Given the description of an element on the screen output the (x, y) to click on. 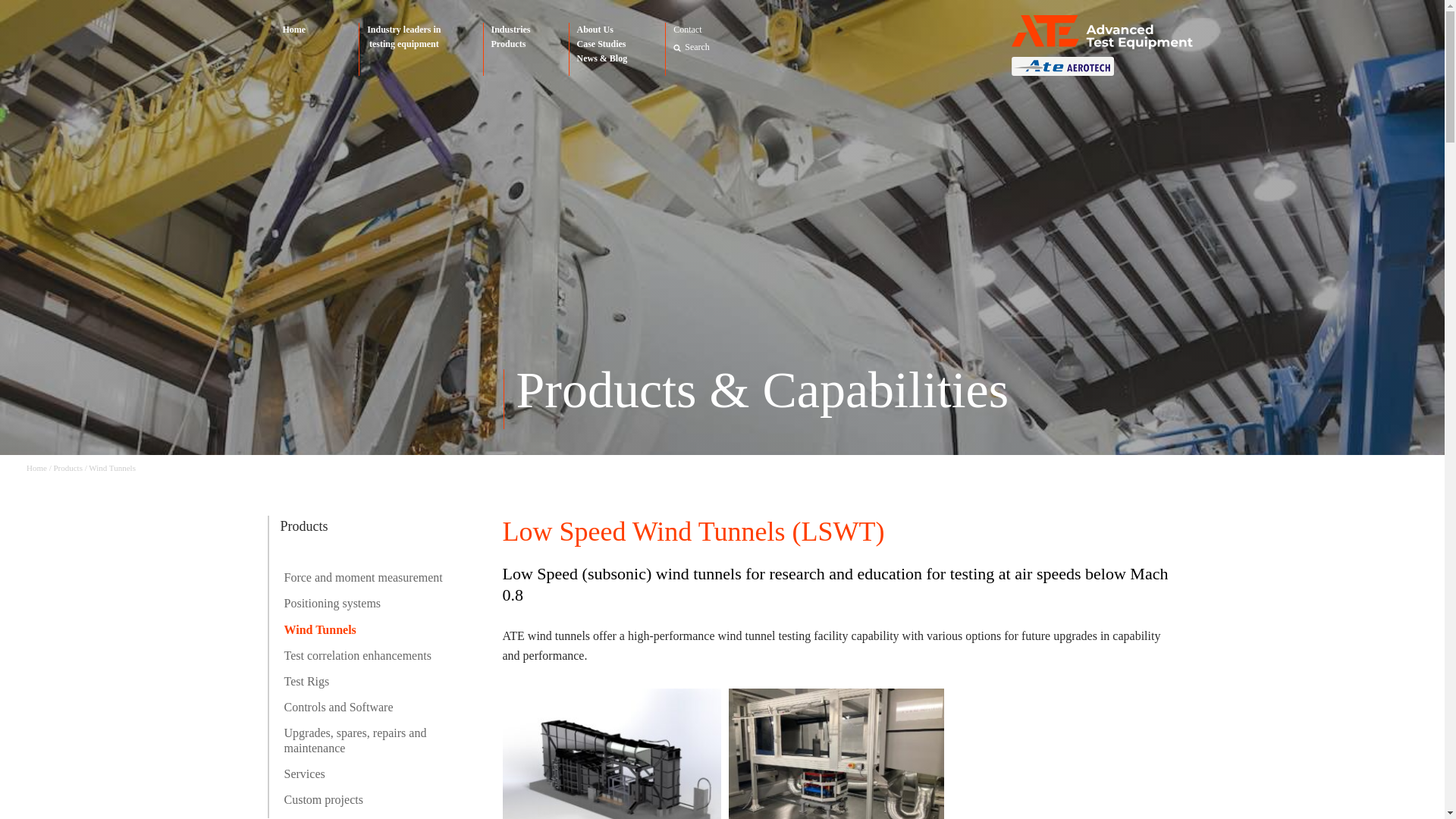
Search (697, 47)
Industries (510, 29)
Go to Products. (67, 467)
Contact (686, 31)
Go to ATE - Advanced Test Equipment. (36, 467)
About Us (601, 29)
Home (294, 29)
Products (510, 43)
Case Studies (601, 43)
